Given the description of an element on the screen output the (x, y) to click on. 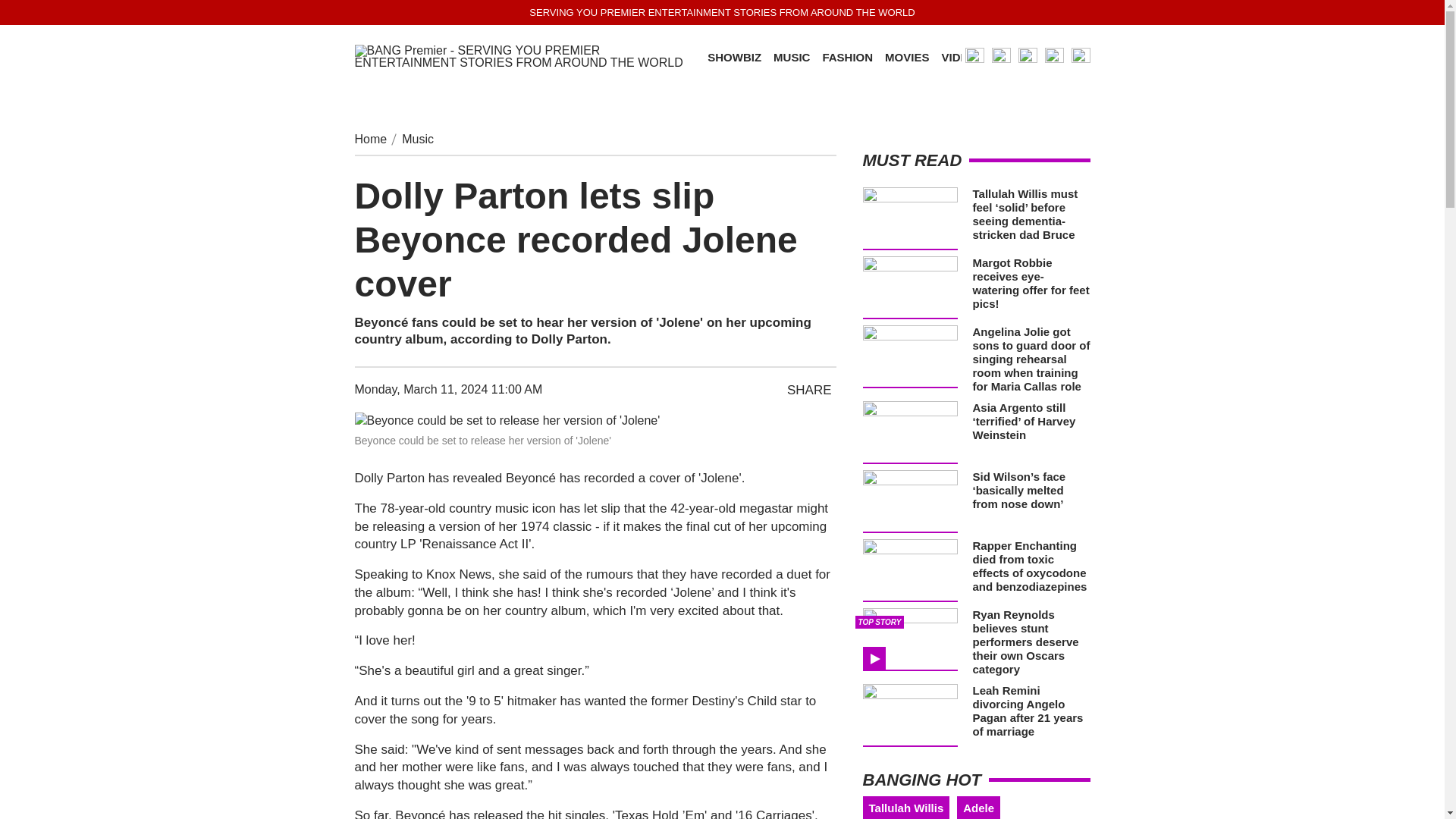
MUSIC (791, 57)
MOVIES (906, 57)
Home (371, 138)
BANG Premier on TikTok (1054, 56)
Music (417, 138)
BANG Premier on Instagram (973, 56)
BANG Premier on Twitter (1000, 56)
BANG Premier on Facebook (1079, 56)
Margot Robbie receives eye-watering offer for feet pics! (1030, 283)
